Given the description of an element on the screen output the (x, y) to click on. 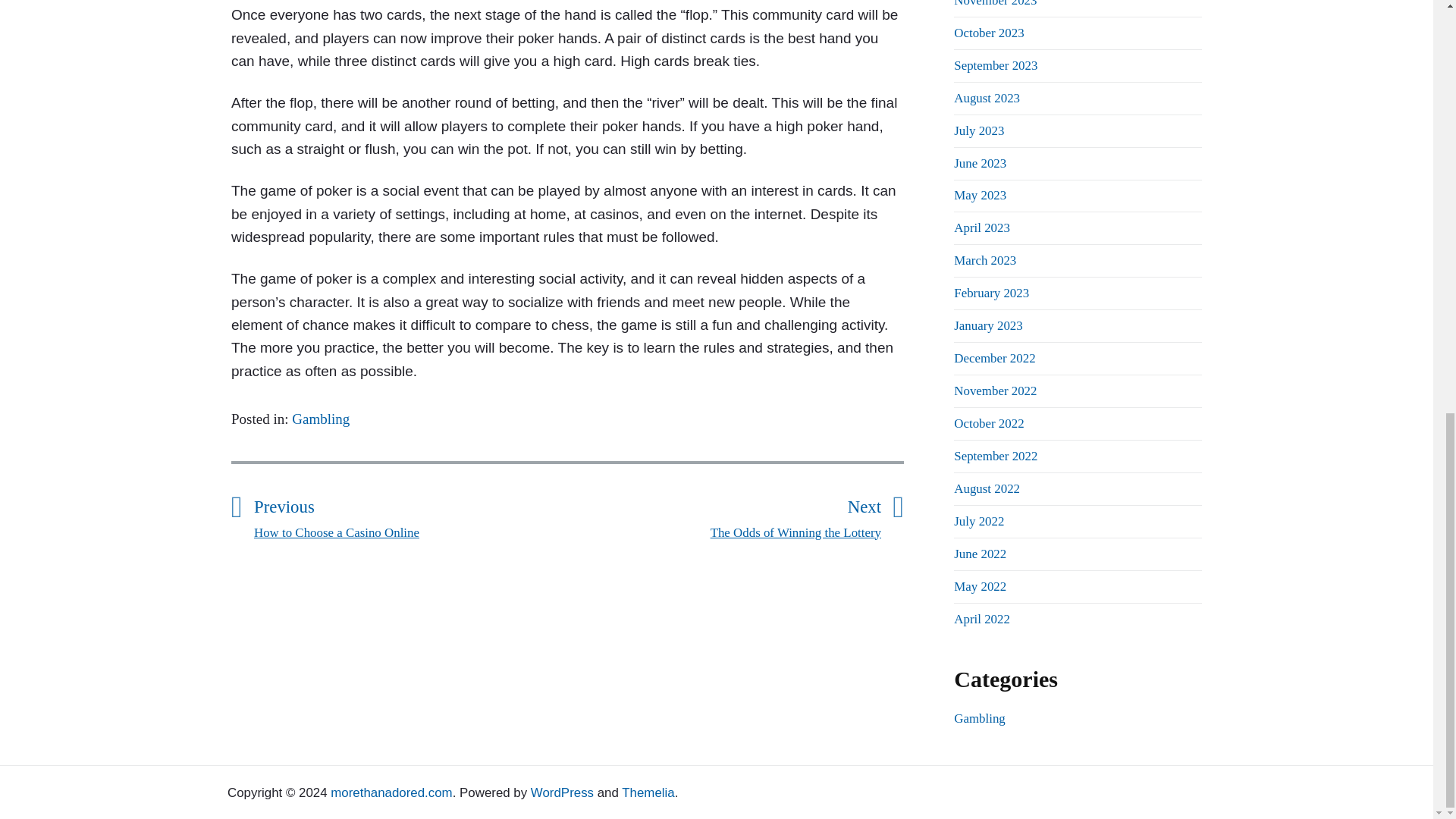
October 2022 (988, 423)
August 2023 (986, 97)
July 2023 (978, 130)
August 2022 (986, 488)
September 2023 (994, 65)
November 2023 (994, 3)
January 2023 (987, 325)
May 2023 (979, 195)
March 2023 (984, 260)
September 2022 (994, 455)
